Given the description of an element on the screen output the (x, y) to click on. 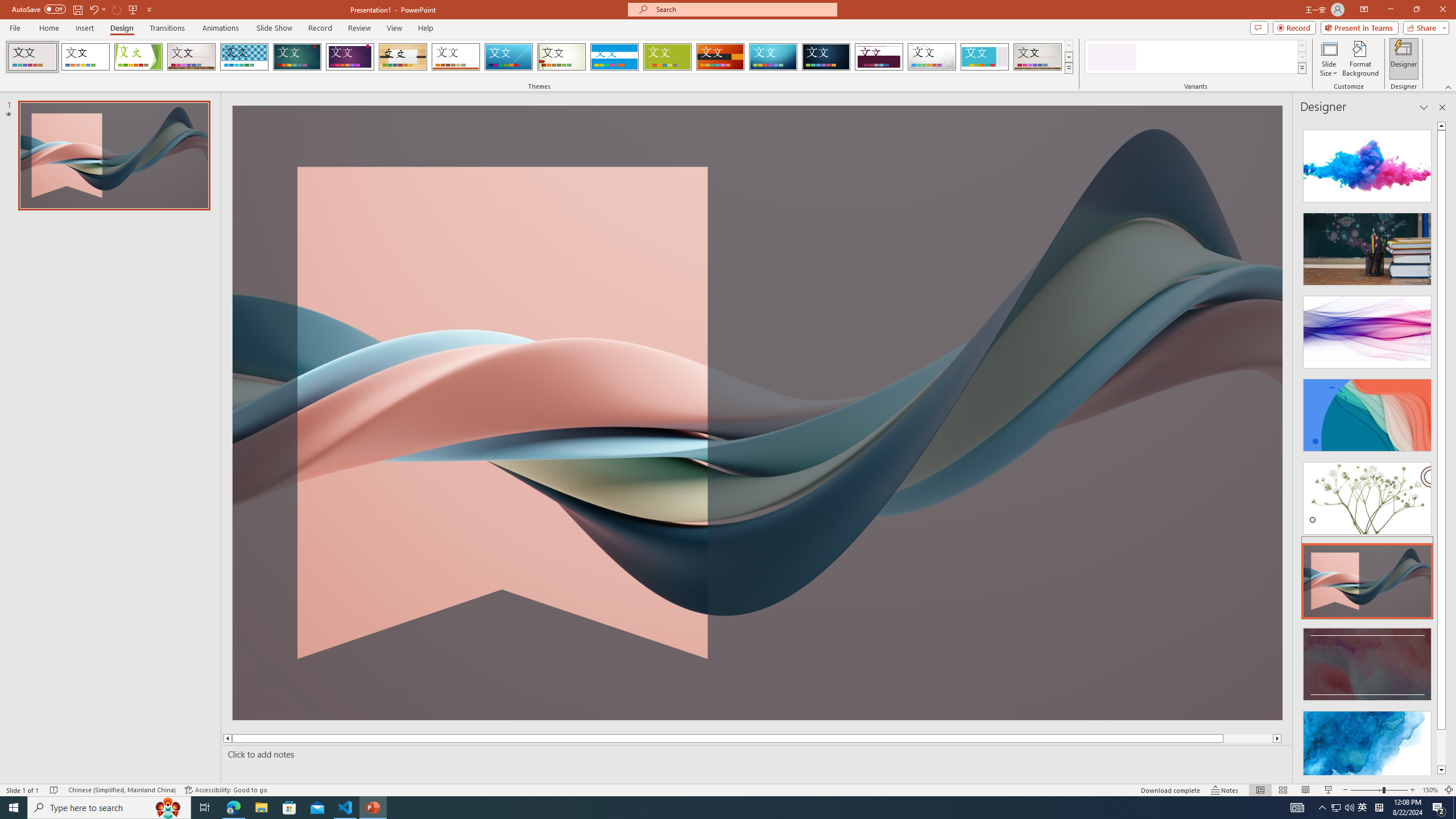
Format Background (1360, 58)
Damask (826, 56)
Recommended Design: Design Idea (1366, 162)
Basis (667, 56)
AutomationID: ThemeVariantsGallery (1195, 56)
Circuit (772, 56)
Ion Boardroom (350, 56)
Office Theme (85, 56)
